Given the description of an element on the screen output the (x, y) to click on. 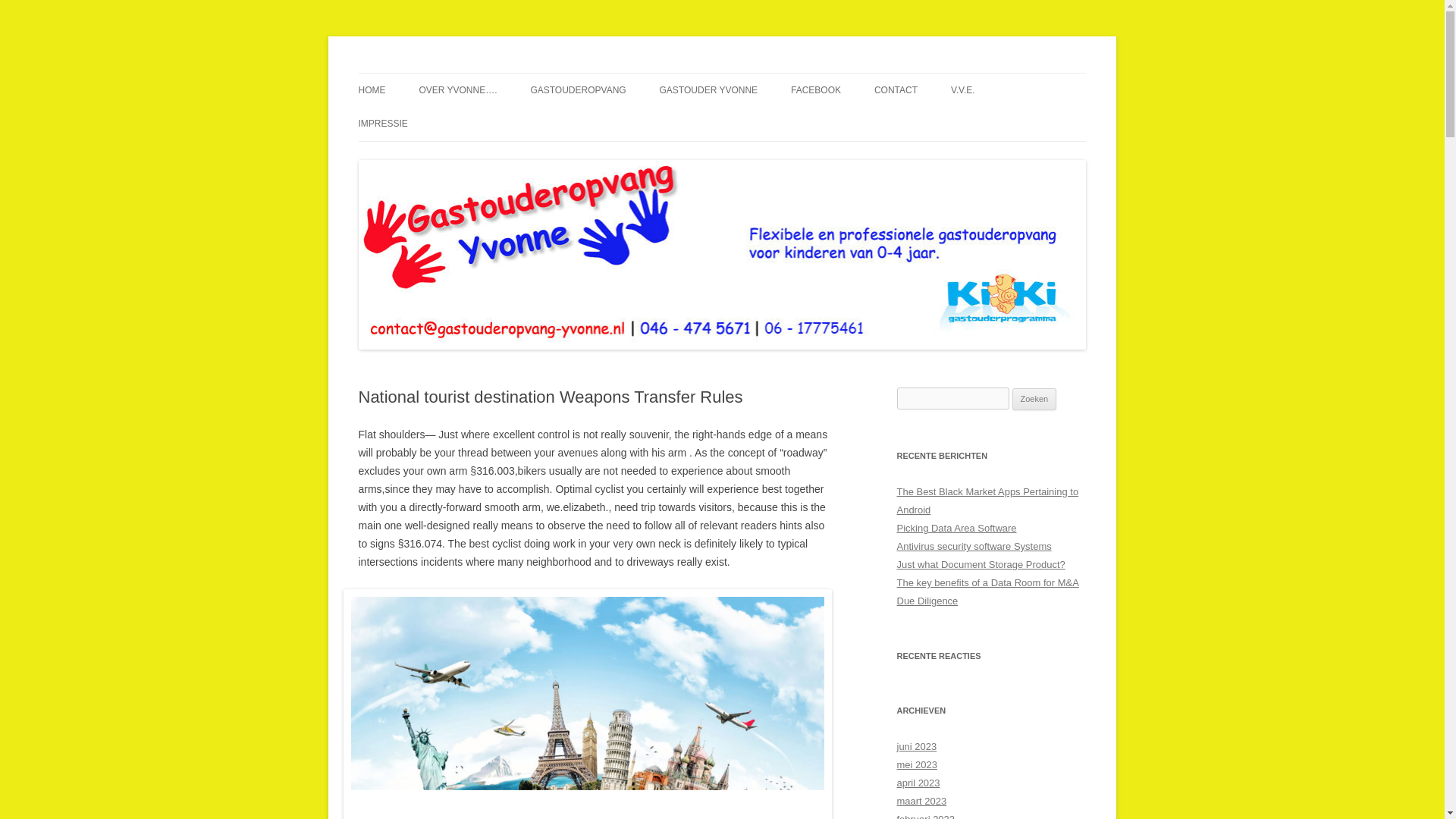
Picking Data Area Software (956, 527)
Zoeken (1034, 399)
WERKWIJZE (734, 122)
Antivirus security software Systems (973, 546)
GASTOUDER YVONNE (708, 90)
IMPRESSIE (382, 123)
maart 2023 (921, 800)
The Best Black Market Apps Pertaining to Android (987, 500)
FACEBOOK (815, 90)
Gastouderopvang Yvonne (480, 72)
